Given the description of an element on the screen output the (x, y) to click on. 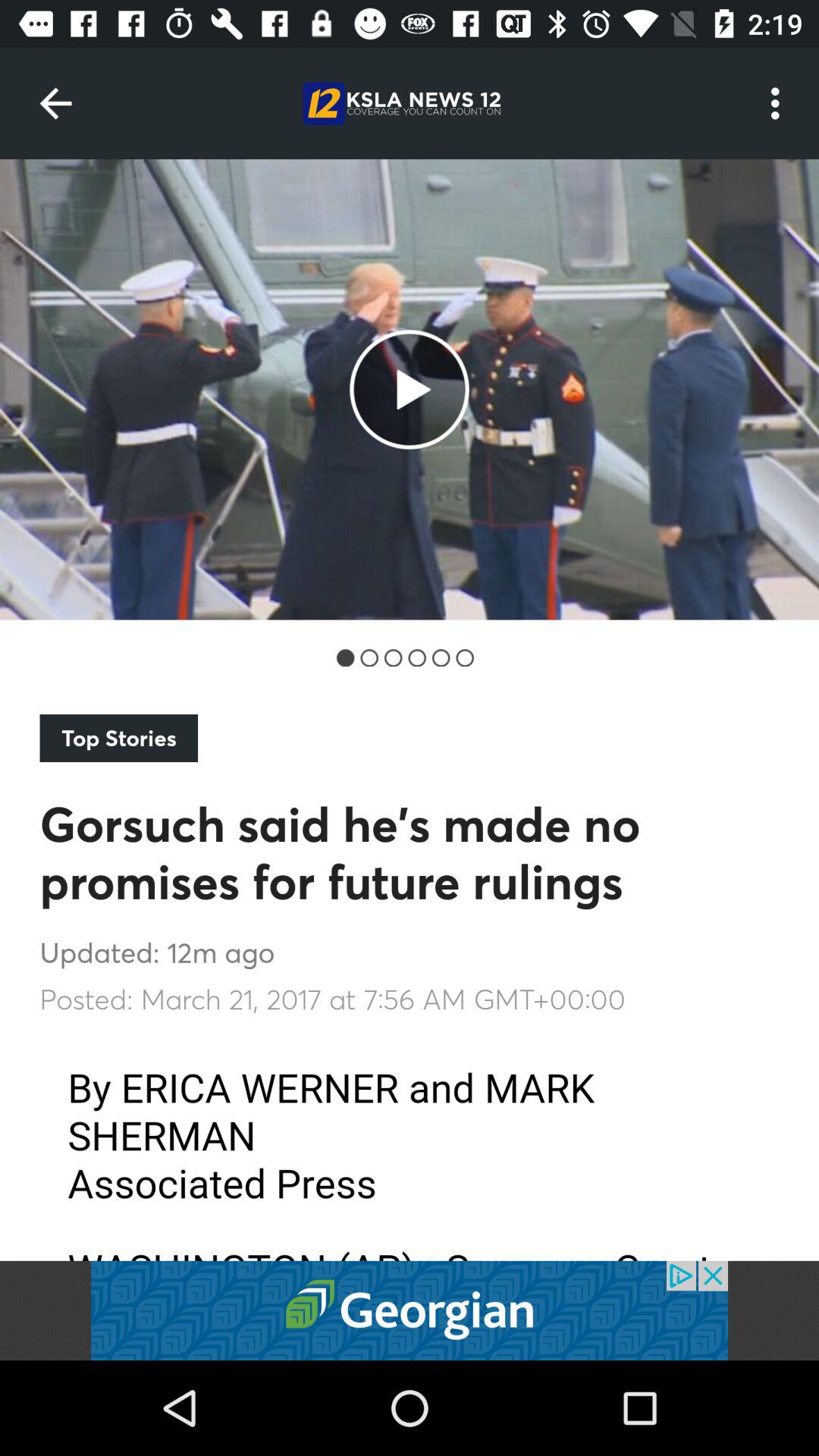
click advertisements (409, 1310)
